Given the description of an element on the screen output the (x, y) to click on. 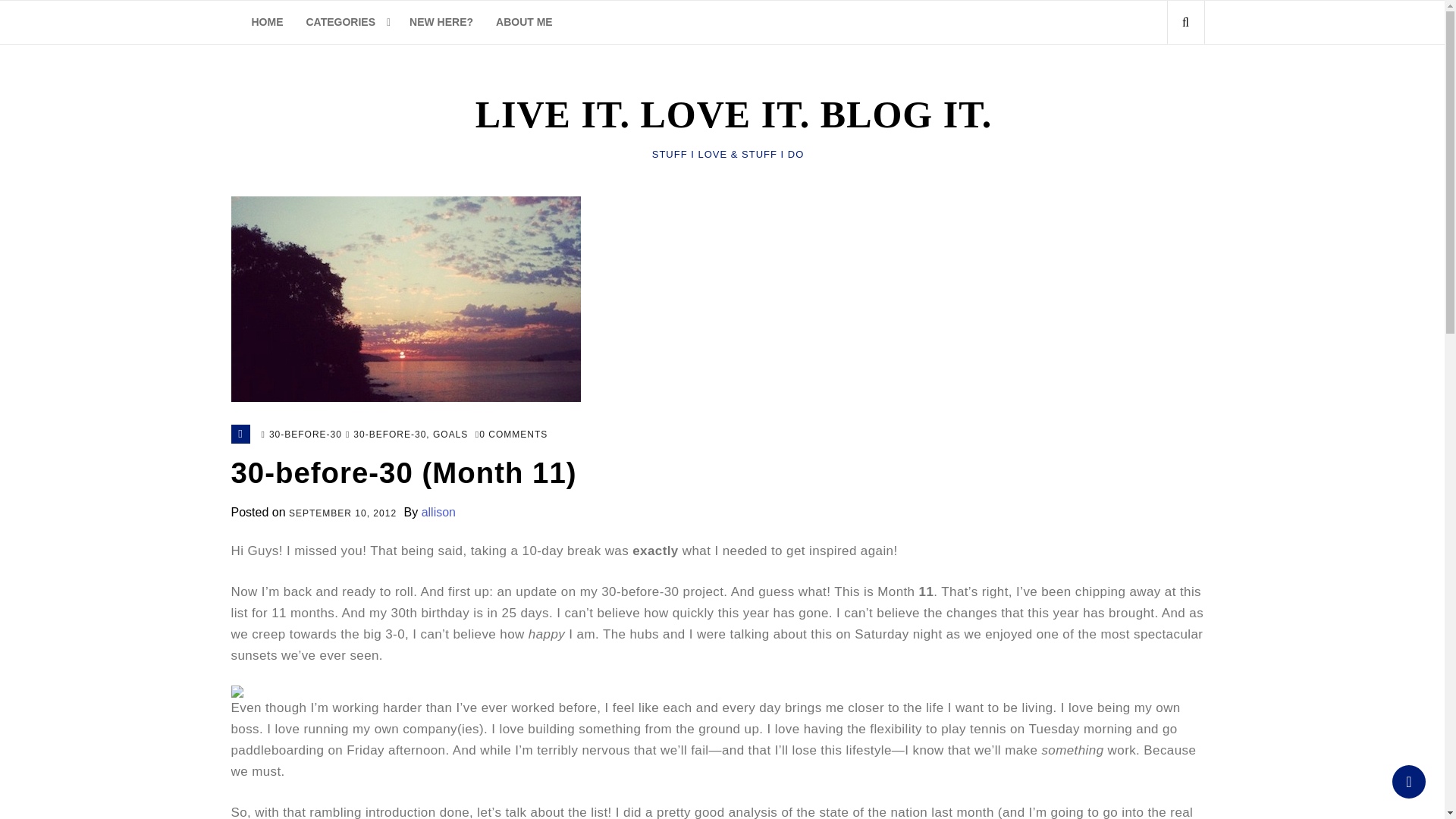
SEPTEMBER 10, 2012 (342, 514)
30-BEFORE-30 (389, 435)
NEW HERE? (440, 22)
allison (438, 512)
Go to Top (1408, 781)
GOALS (449, 435)
ABOUT ME (524, 22)
CATEGORIES (345, 22)
Search (1158, 89)
HOME (267, 22)
LIVE IT. LOVE IT. BLOG IT. (728, 114)
0 COMMENTS (511, 435)
30-BEFORE-30 (305, 435)
